Given the description of an element on the screen output the (x, y) to click on. 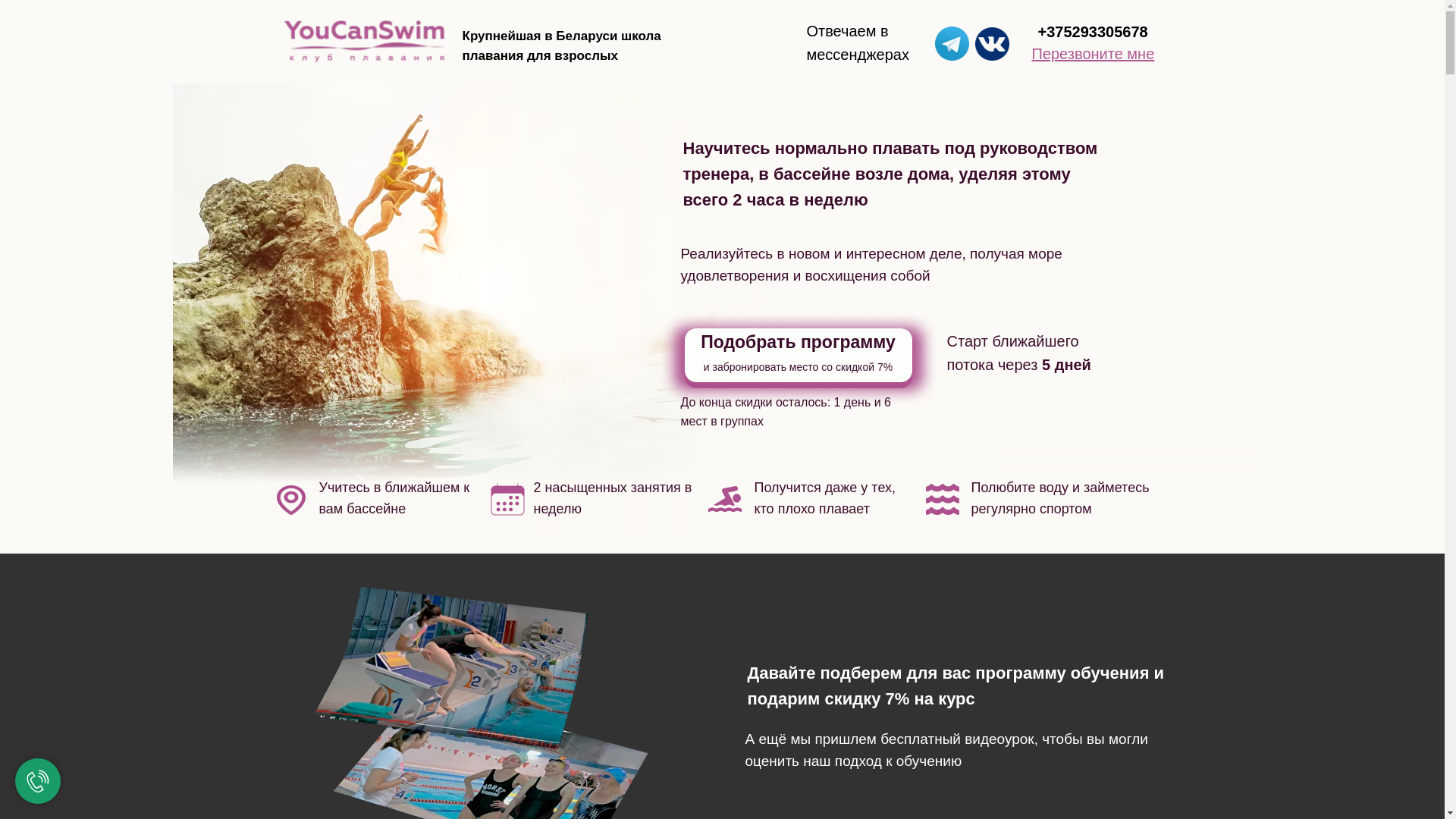
+375293305678 Element type: text (1092, 31)
